Given the description of an element on the screen output the (x, y) to click on. 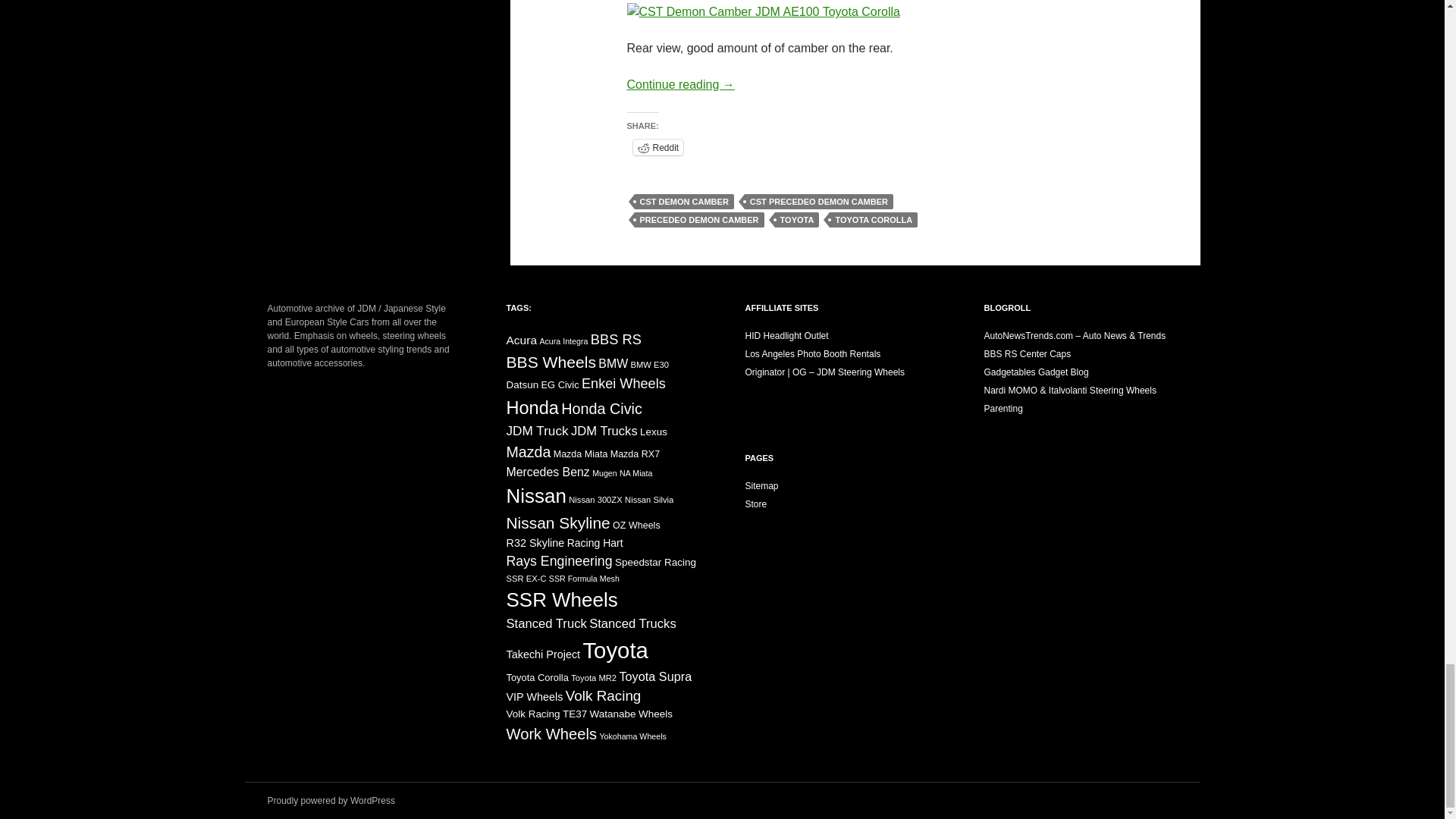
CST Demon Camber JDM AE100 Toyota Corolla  (762, 12)
Click to share on Reddit (656, 147)
HID Lights at Good Prices (786, 335)
JDM Steering Wheels Wood Grain Steering Wheels (824, 371)
